Given the description of an element on the screen output the (x, y) to click on. 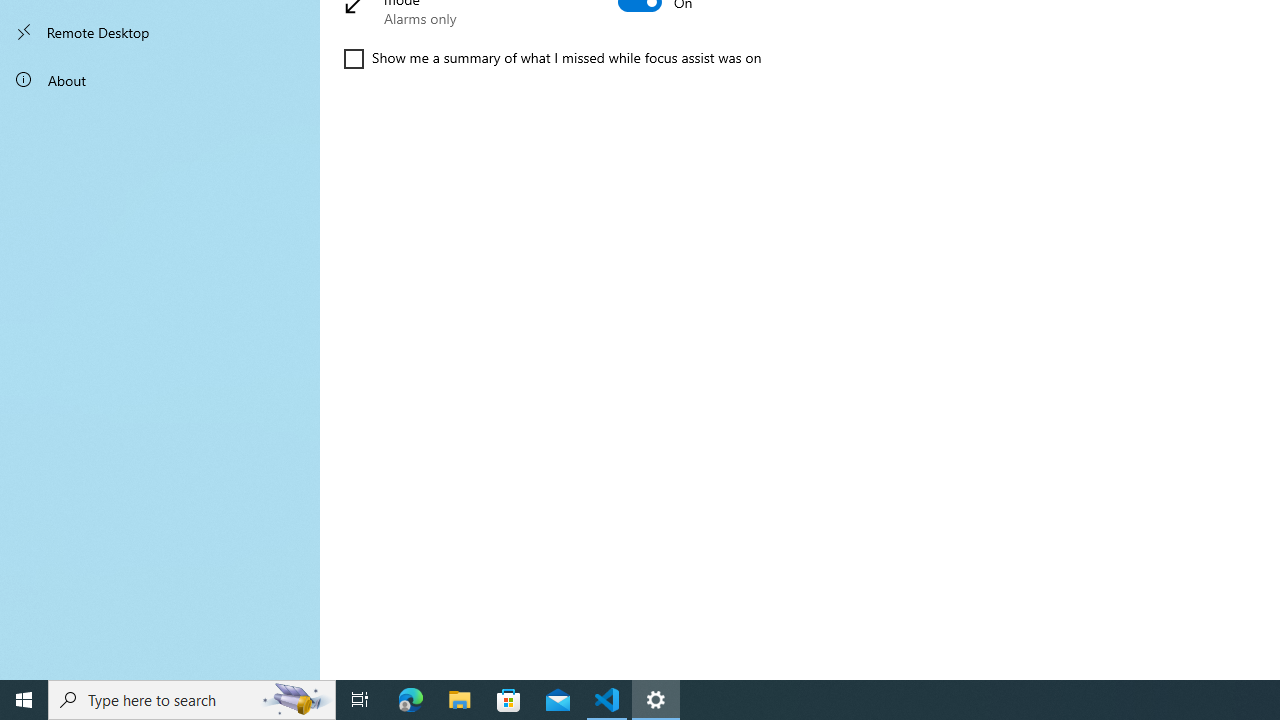
Visual Studio Code - 1 running window (607, 699)
Start (24, 699)
Microsoft Edge (411, 699)
Microsoft Store (509, 699)
Type here to search (191, 699)
Remote Desktop (160, 31)
Settings - 1 running window (656, 699)
Show me a summary of what I missed while focus assist was on (552, 58)
File Explorer (460, 699)
Task View (359, 699)
Search highlights icon opens search home window (295, 699)
About (160, 79)
